Given the description of an element on the screen output the (x, y) to click on. 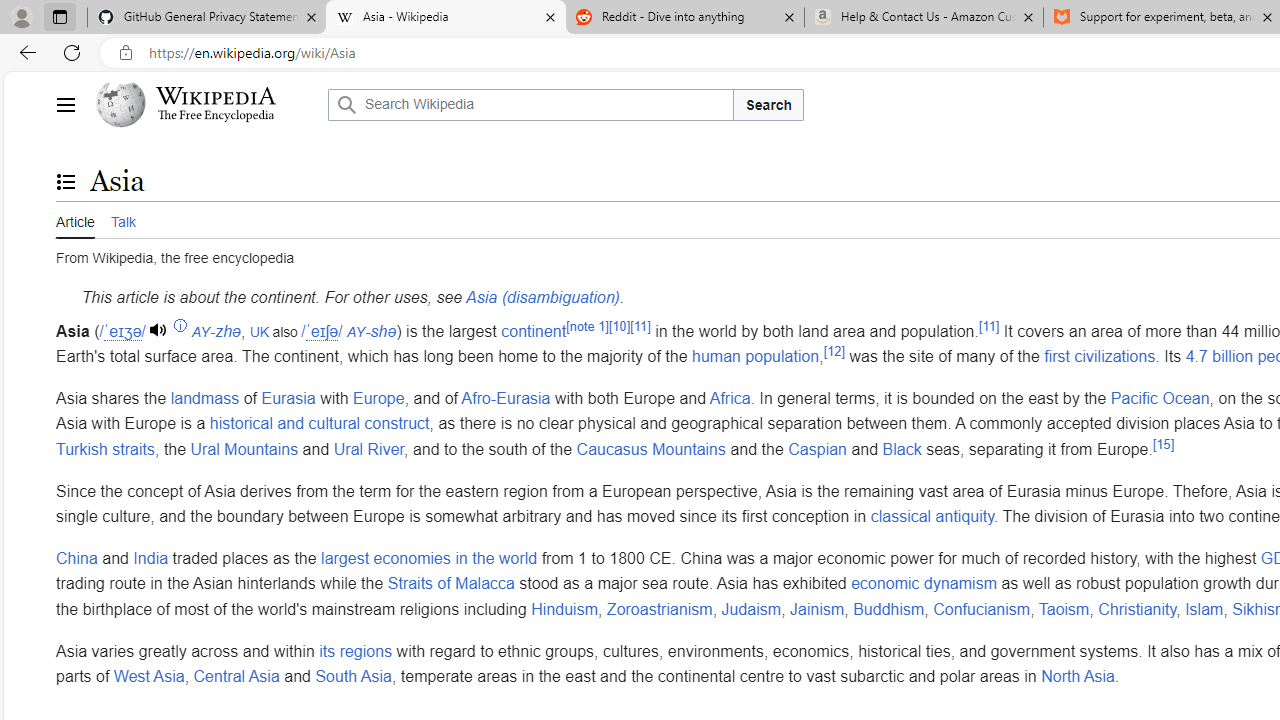
Wikipedia (216, 96)
Play audio (160, 330)
Talk (122, 219)
Europe (378, 397)
Africa (730, 397)
Main menu (65, 104)
Taoism (1064, 608)
The Free Encyclopedia (216, 116)
GitHub General Privacy Statement - GitHub Docs (207, 17)
Islam (1204, 608)
Judaism (751, 608)
Jainism (816, 608)
Article (75, 219)
Help & Contact Us - Amazon Customer Service - Sleeping (924, 17)
